Given the description of an element on the screen output the (x, y) to click on. 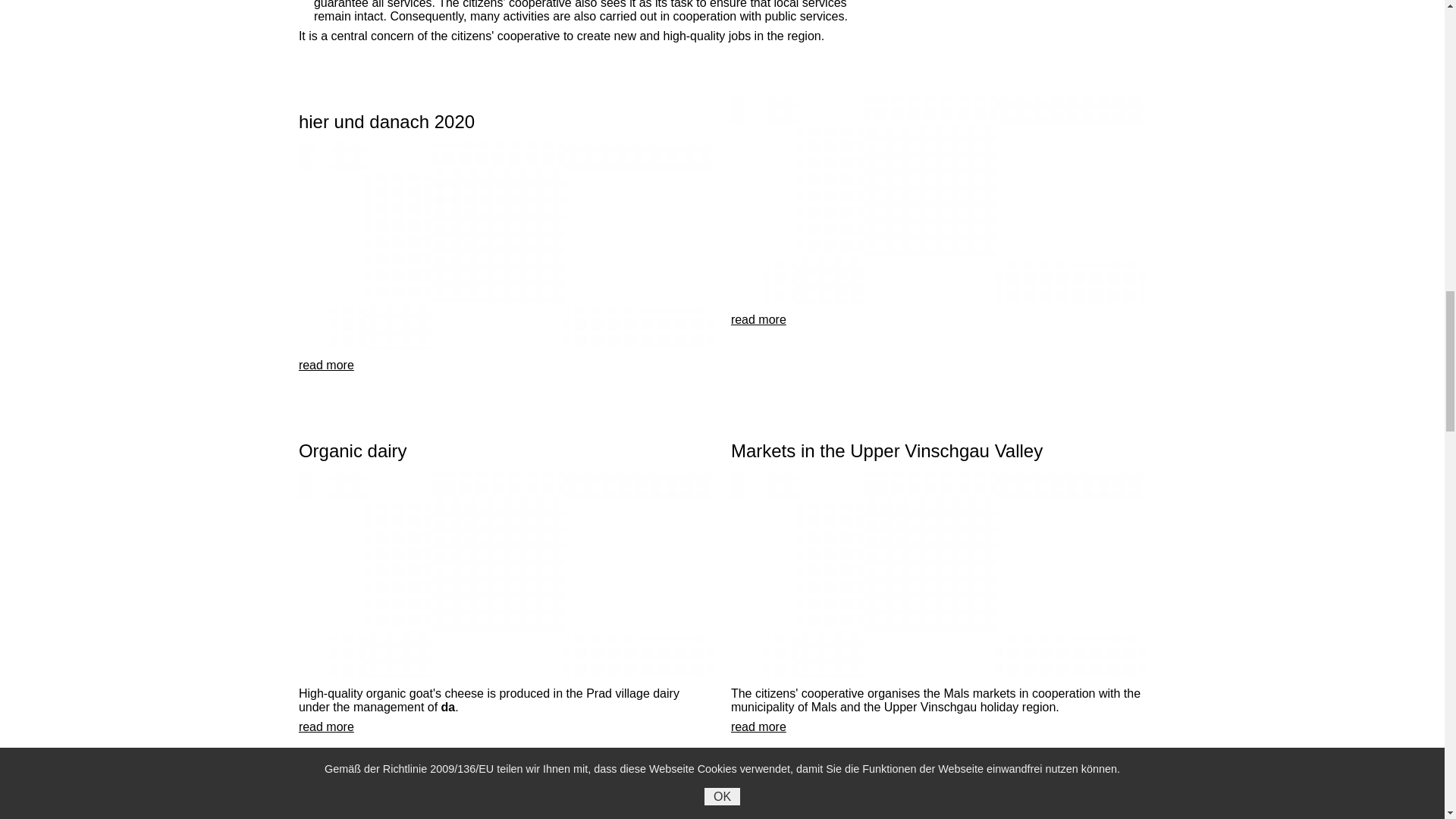
Bild (505, 574)
Bild (505, 245)
Bild (937, 199)
Bild (937, 574)
